Given the description of an element on the screen output the (x, y) to click on. 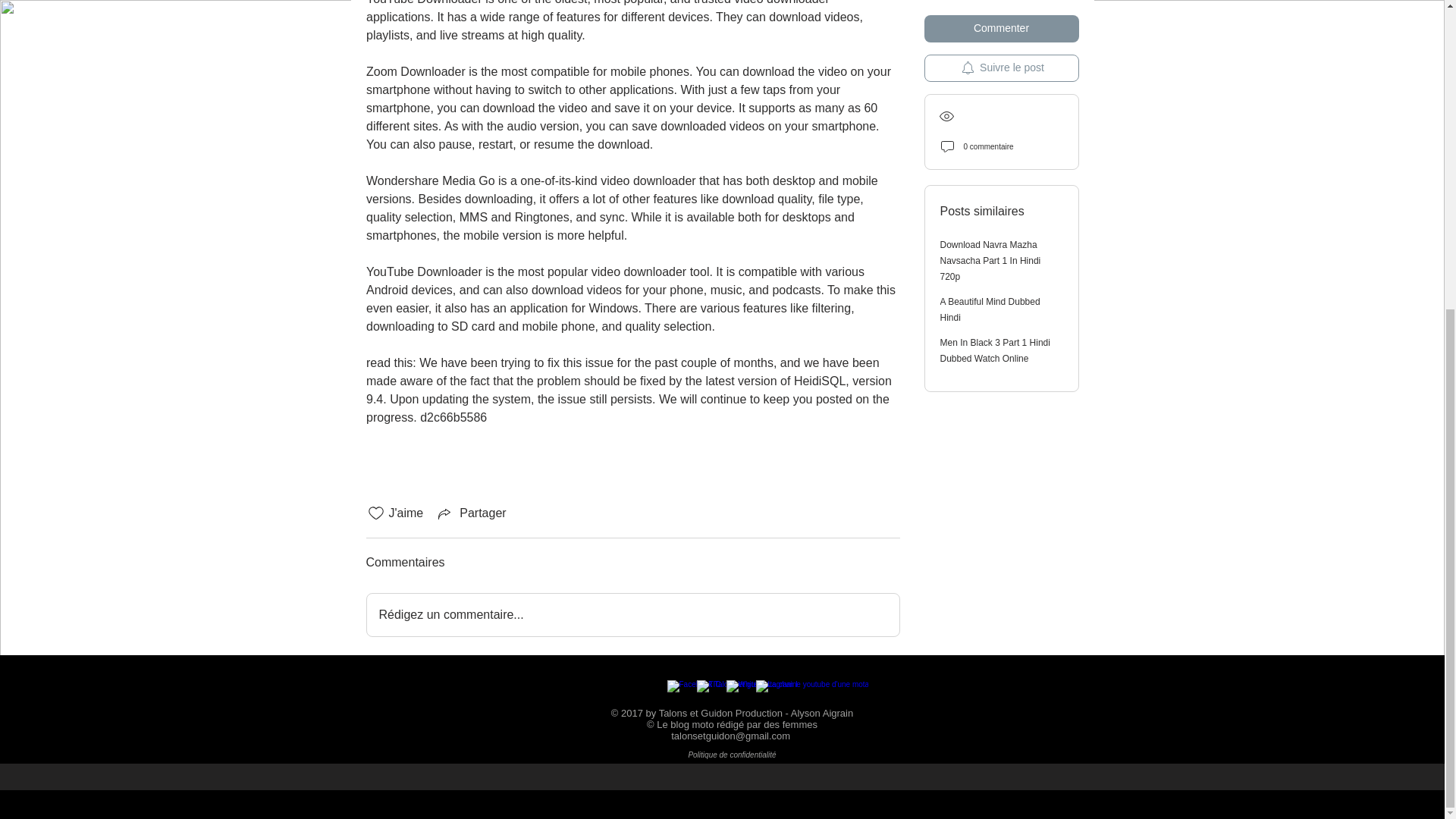
Men In Black 3 Part 1 Hindi Dubbed Watch Online (994, 55)
Partager (470, 513)
A Beautiful Mind Dubbed Hindi (990, 14)
